Given the description of an element on the screen output the (x, y) to click on. 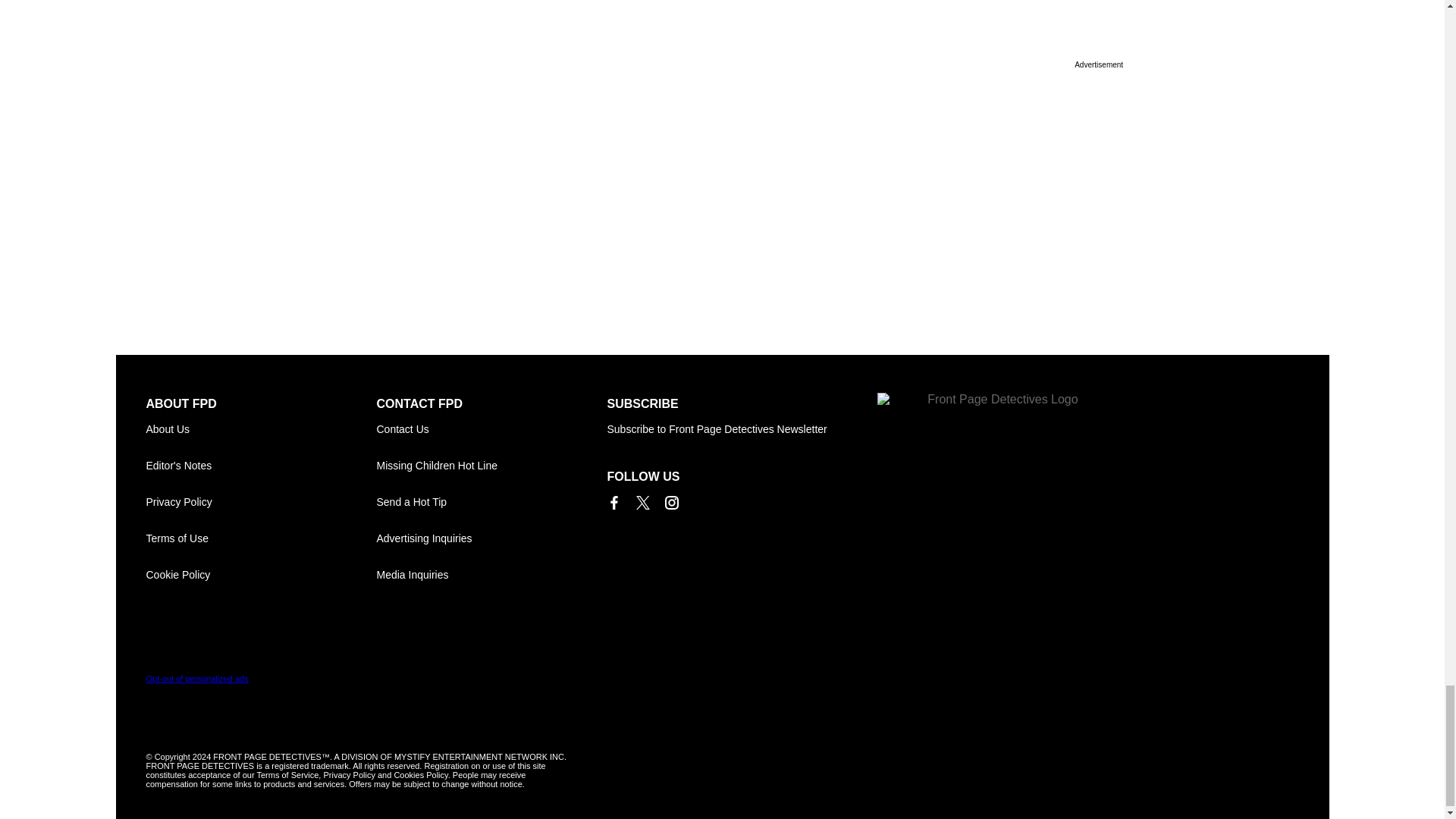
Send a Hot Tip (491, 502)
Cookie Policy (260, 574)
Cookie Policy (260, 574)
About Front Page Detectives (260, 429)
Privacy Policy (260, 502)
Link to X (641, 502)
About Us (260, 429)
Link to Instagram (670, 502)
Editor's Notes (260, 465)
Terms of Use (260, 538)
